Given the description of an element on the screen output the (x, y) to click on. 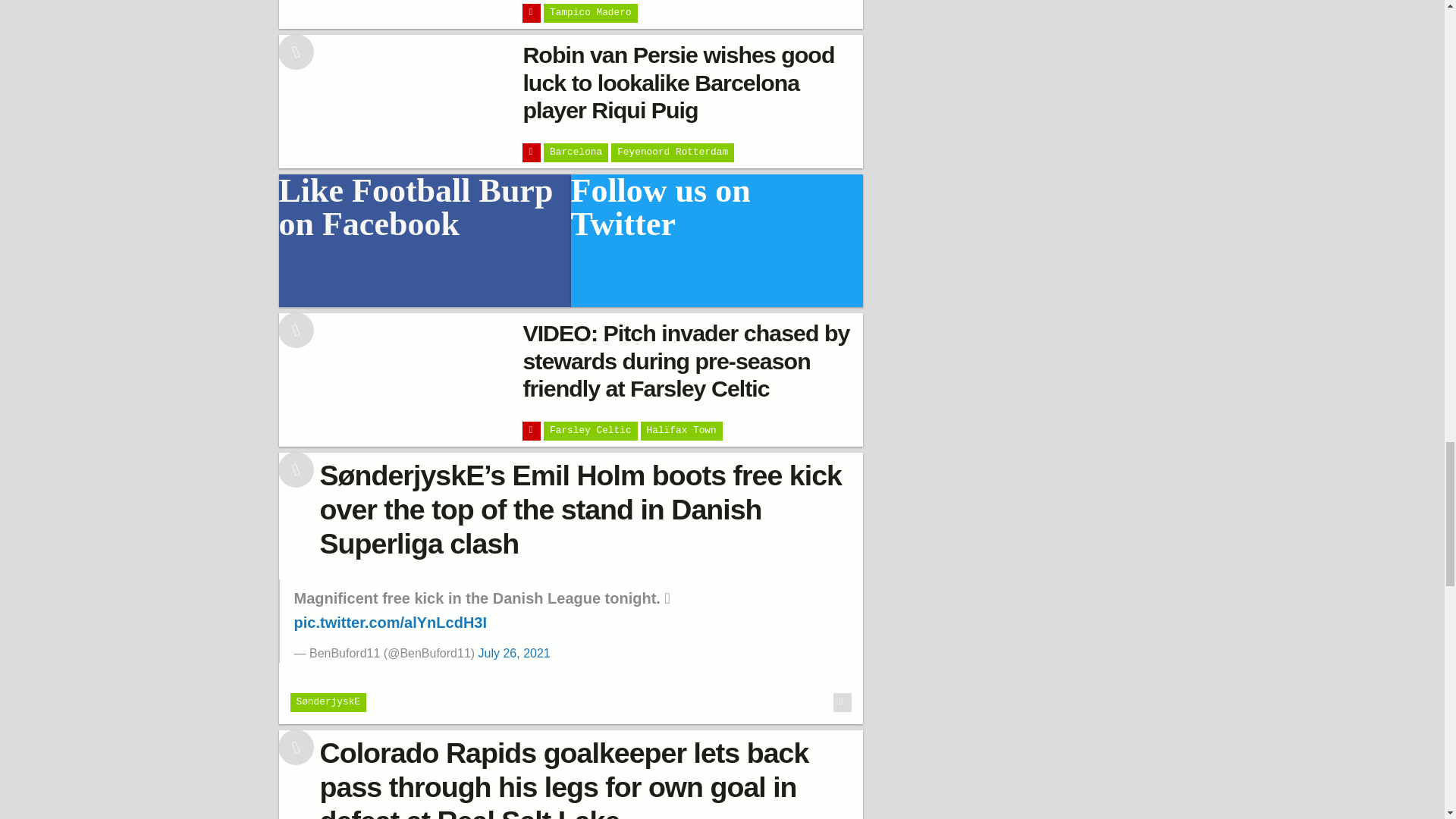
Barcelona (575, 152)
Tampico Madero (590, 13)
More Halifax Town (681, 430)
Farsley Celtic (590, 430)
Feyenoord Rotterdam (672, 152)
Follow us on Twitter (716, 240)
More Farsley Celtic (590, 430)
Like Football Burp on Facebook (424, 240)
